Given the description of an element on the screen output the (x, y) to click on. 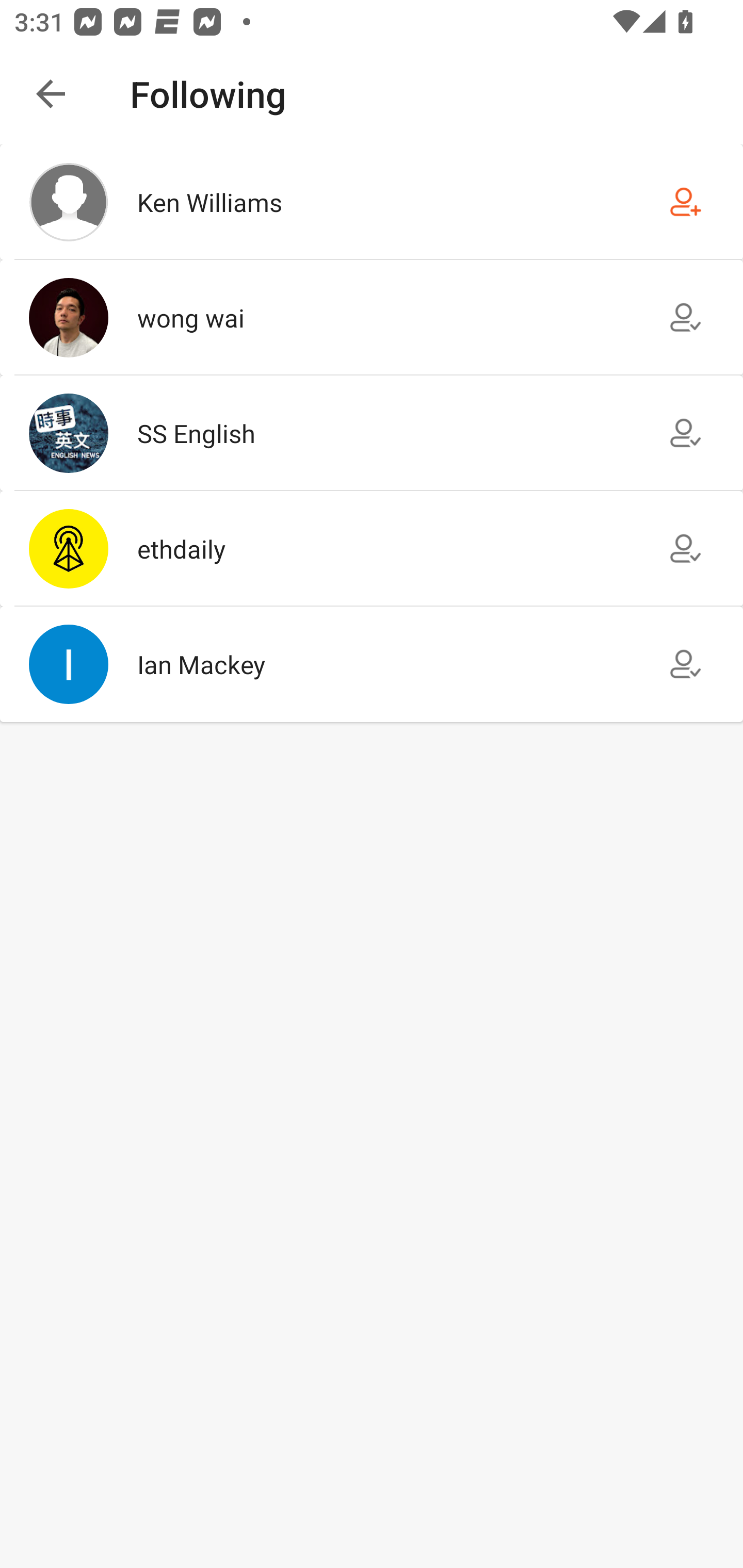
Navigate up (50, 93)
Ken Williams (371, 202)
wong wai (371, 317)
SS English (371, 432)
ethdaily (371, 548)
Ian Mackey (371, 664)
